Given the description of an element on the screen output the (x, y) to click on. 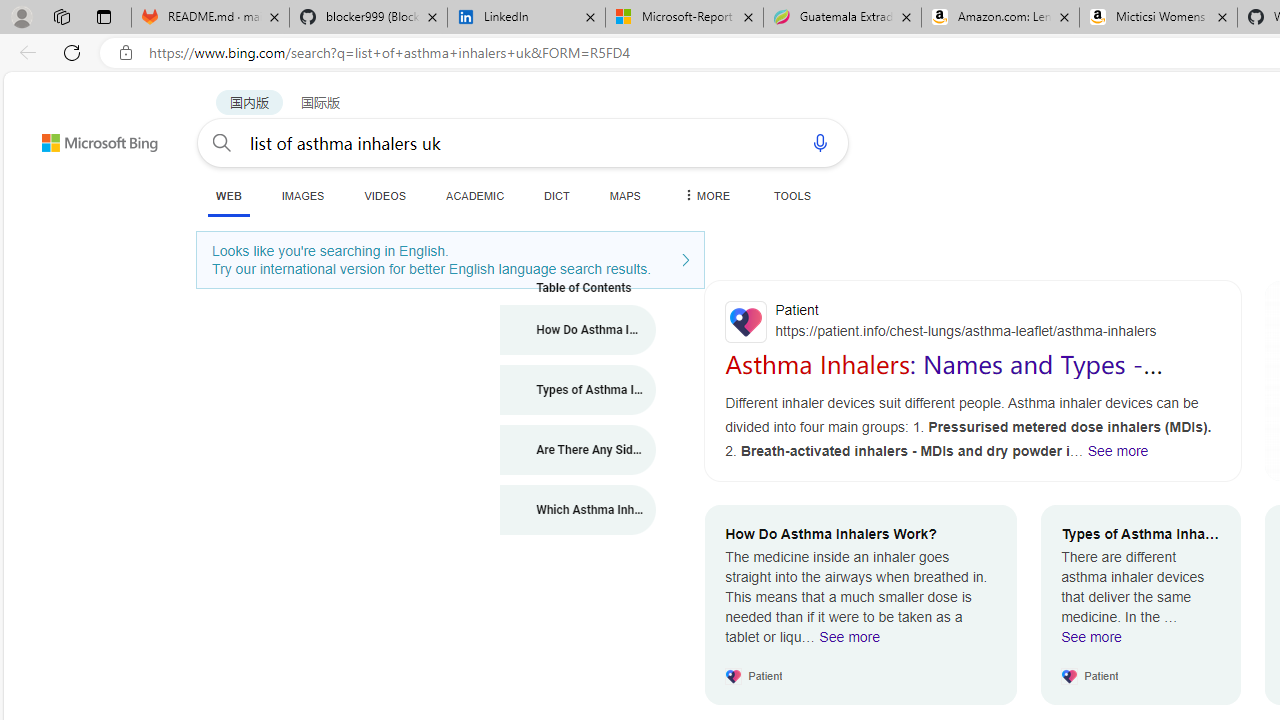
ACADEMIC (475, 195)
Global web icon (745, 321)
TOOLS (792, 195)
Patient (973, 321)
LinkedIn (526, 17)
ACADEMIC (475, 195)
